Given the description of an element on the screen output the (x, y) to click on. 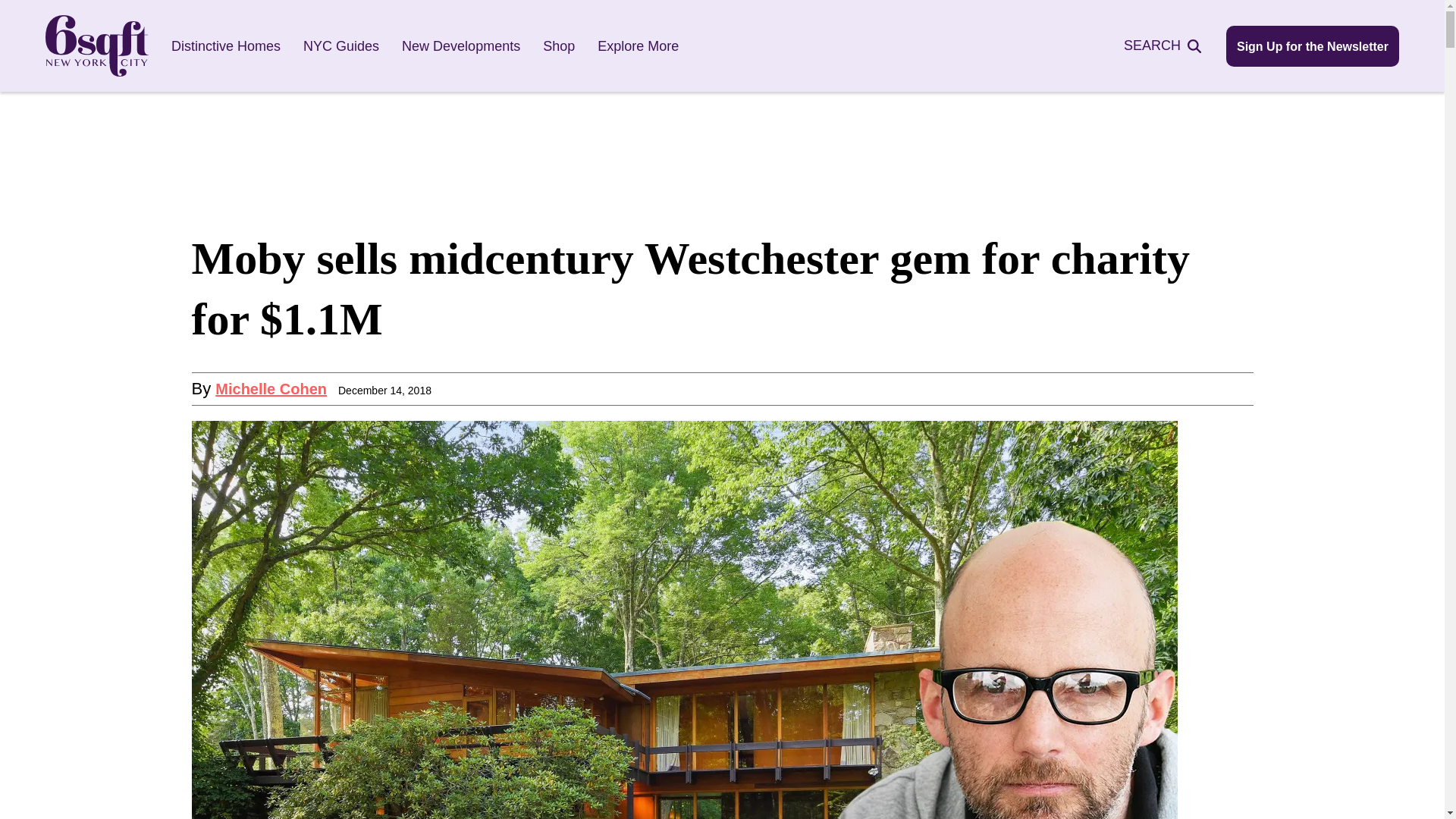
New Developments (460, 46)
NYC Guides (340, 46)
Distinctive Homes (226, 46)
Shop (559, 46)
Sign Up for the Newsletter (1312, 45)
Explore More (637, 46)
Posts by Michelle Cohen (270, 388)
SEARCH (1171, 45)
Michelle Cohen (270, 388)
